Given the description of an element on the screen output the (x, y) to click on. 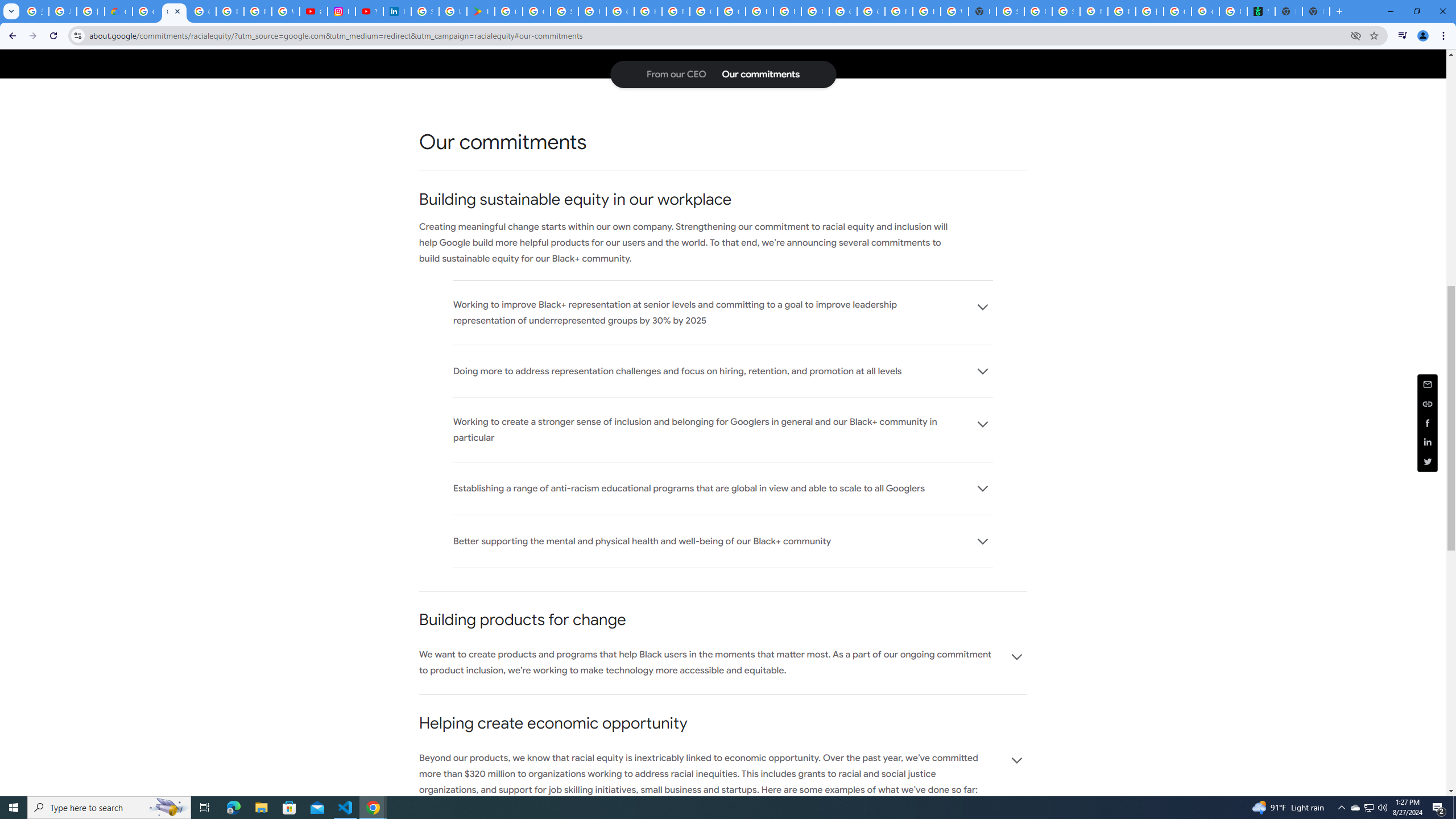
Sign in - Google Accounts (1010, 11)
